Given the description of an element on the screen output the (x, y) to click on. 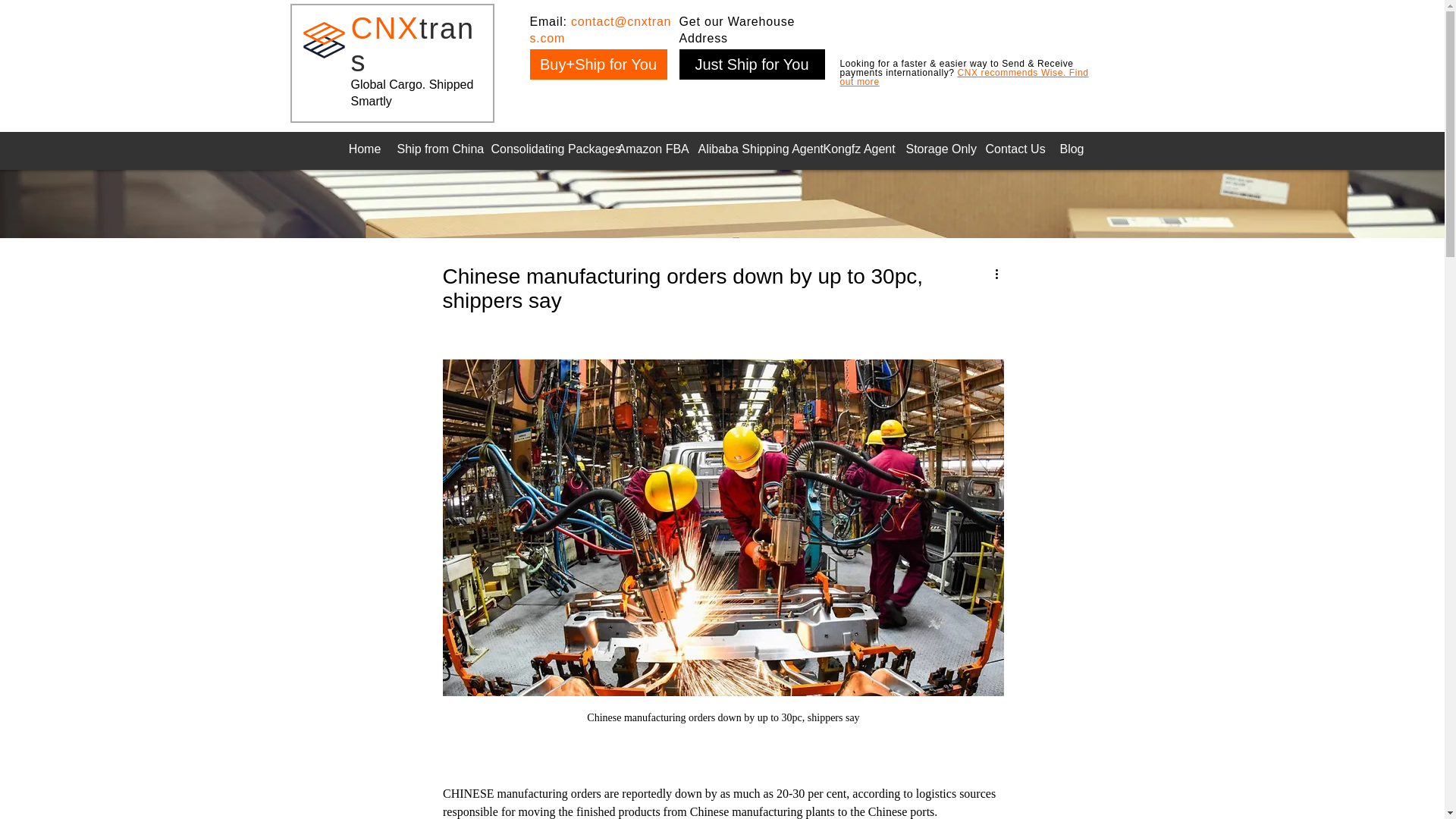
Alibaba Shipping Agent (752, 149)
Blog (1071, 149)
CNX recommends Wise. Find out more (964, 76)
Consolidating Packages (546, 149)
Amazon FBA (650, 149)
CNXtrans (412, 46)
Ship from China (436, 149)
Contact Us (1013, 149)
Storage Only (937, 149)
Just Ship for You (752, 64)
Home (363, 149)
Shipping News (492, 172)
Ecommerce Tips (616, 172)
All Posts (392, 172)
Ecommerce News (858, 172)
